Given the description of an element on the screen output the (x, y) to click on. 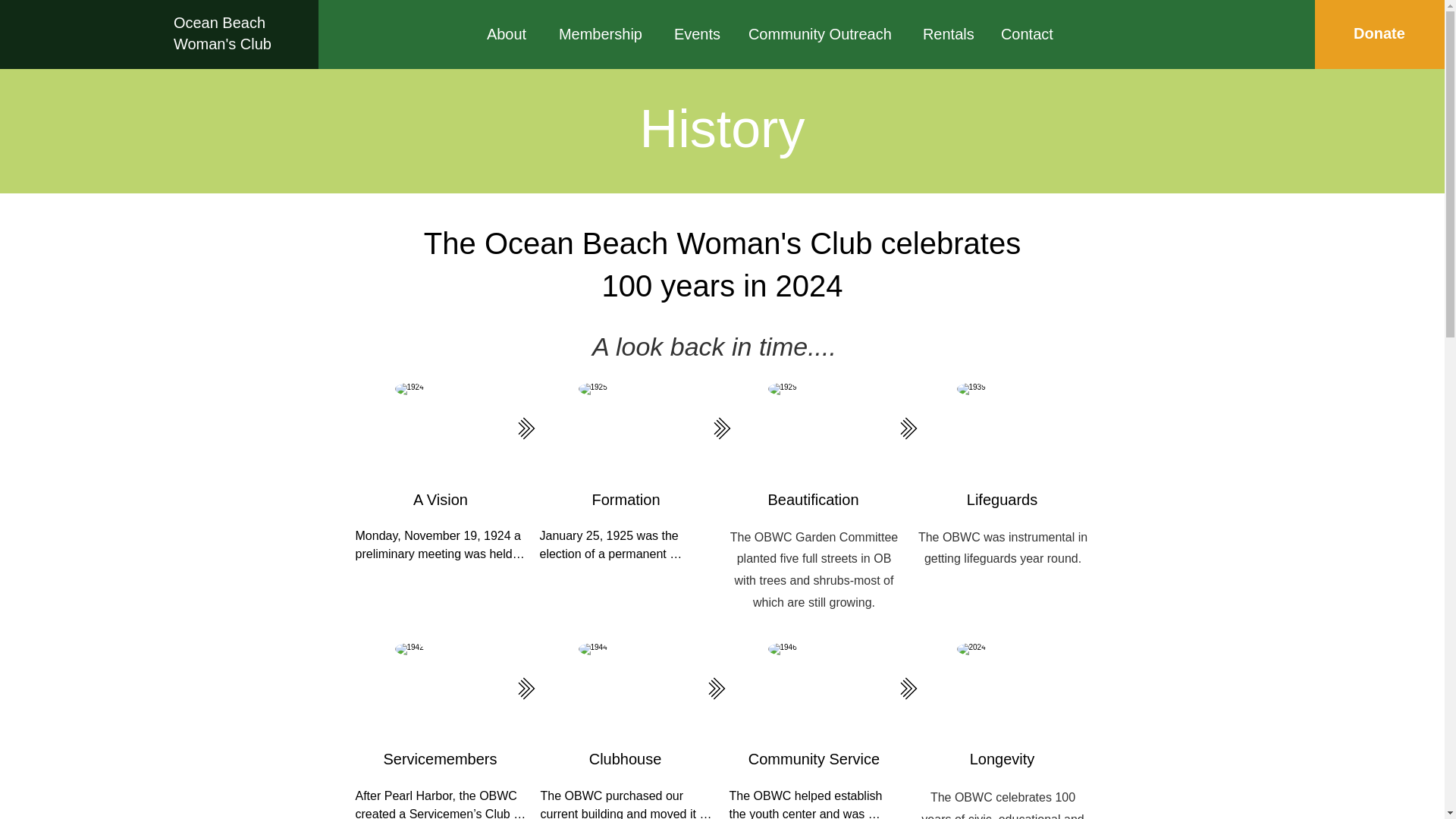
Ocean Beach Woman's Club (221, 33)
About (511, 33)
Events (699, 33)
Membership (604, 33)
Community Outreach (823, 33)
Contact (1030, 33)
Rentals (950, 33)
Donate (1378, 33)
